Given the description of an element on the screen output the (x, y) to click on. 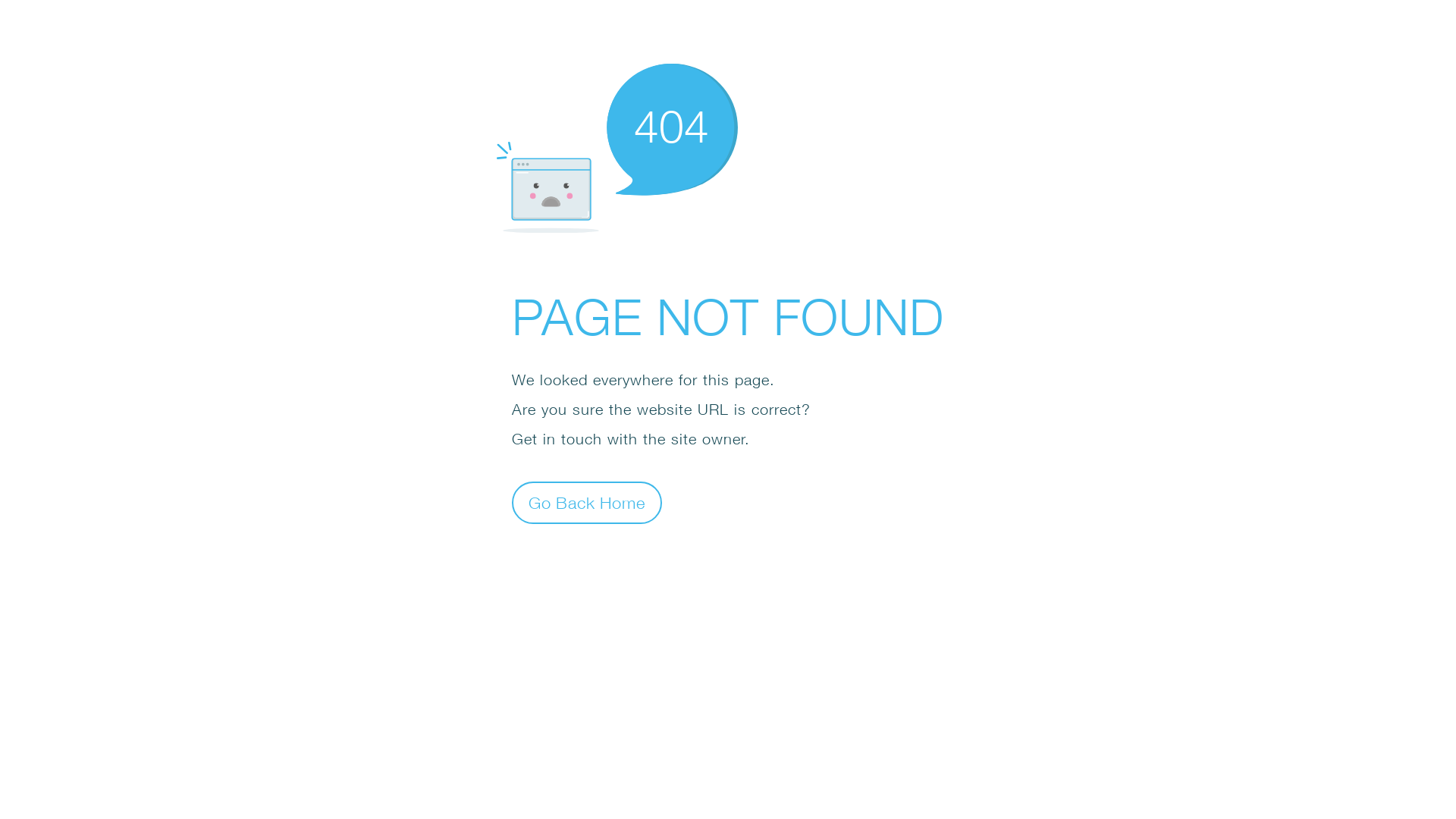
Go Back Home Element type: text (586, 502)
